Given the description of an element on the screen output the (x, y) to click on. 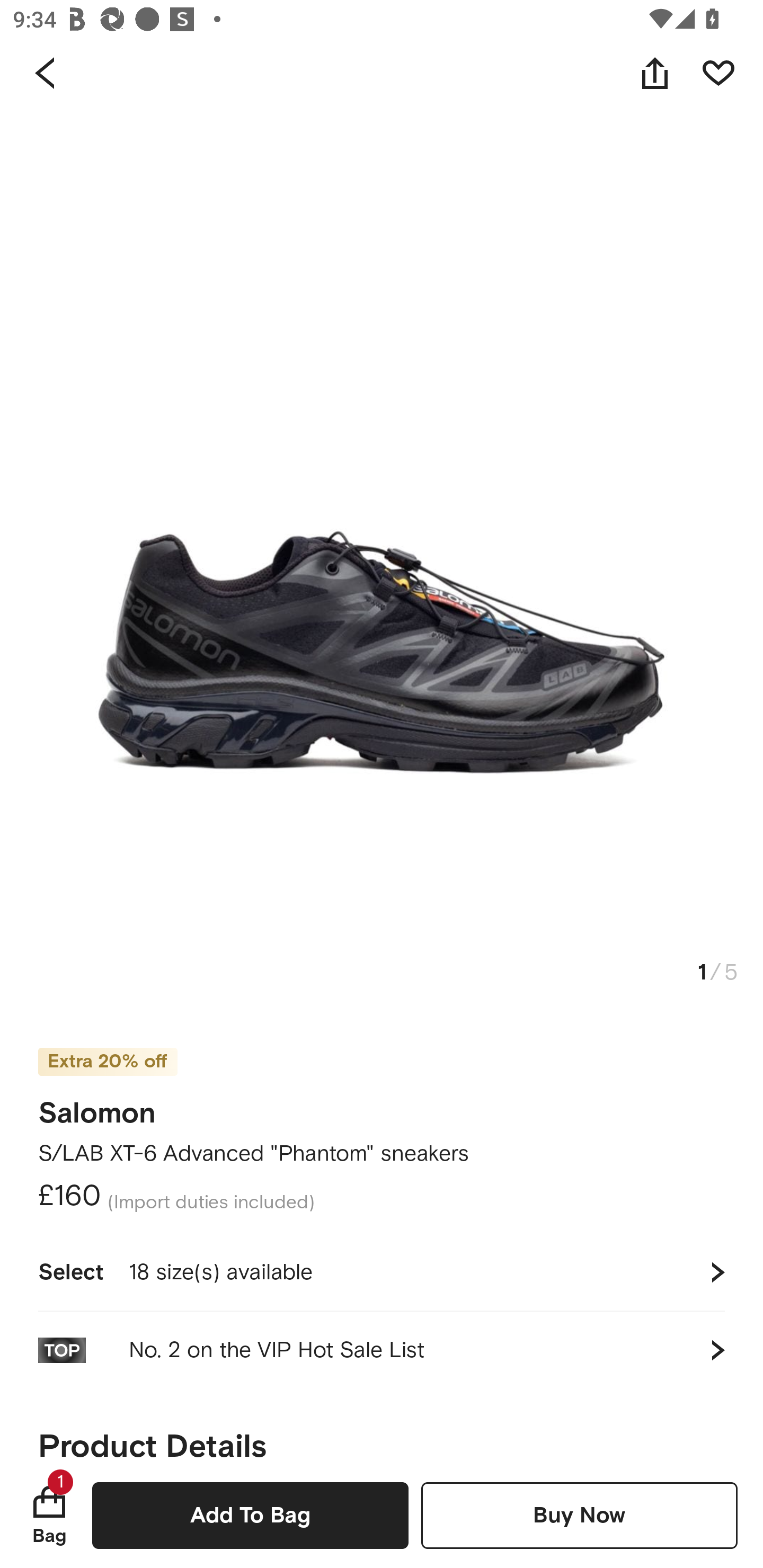
Extra 20% off (107, 1061)
Salomon (97, 1107)
Select 18 size(s) available (381, 1272)
No. 2 on the VIP Hot Sale List (381, 1349)
Bag 1 (49, 1515)
Add To Bag (250, 1515)
Buy Now (579, 1515)
